Given the description of an element on the screen output the (x, y) to click on. 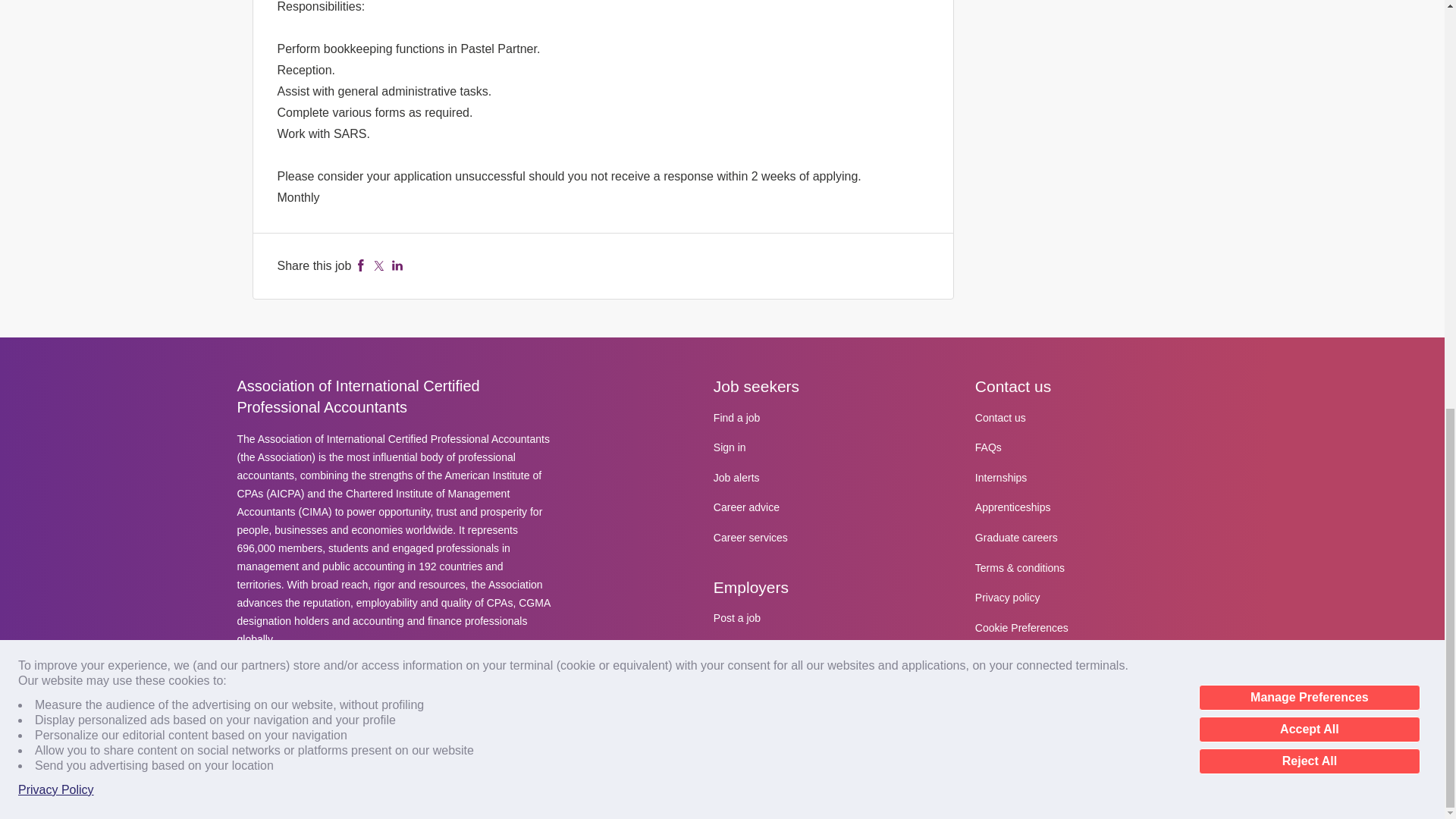
Facebook (360, 265)
Twitter (378, 265)
LinkedIn (397, 265)
